Given the description of an element on the screen output the (x, y) to click on. 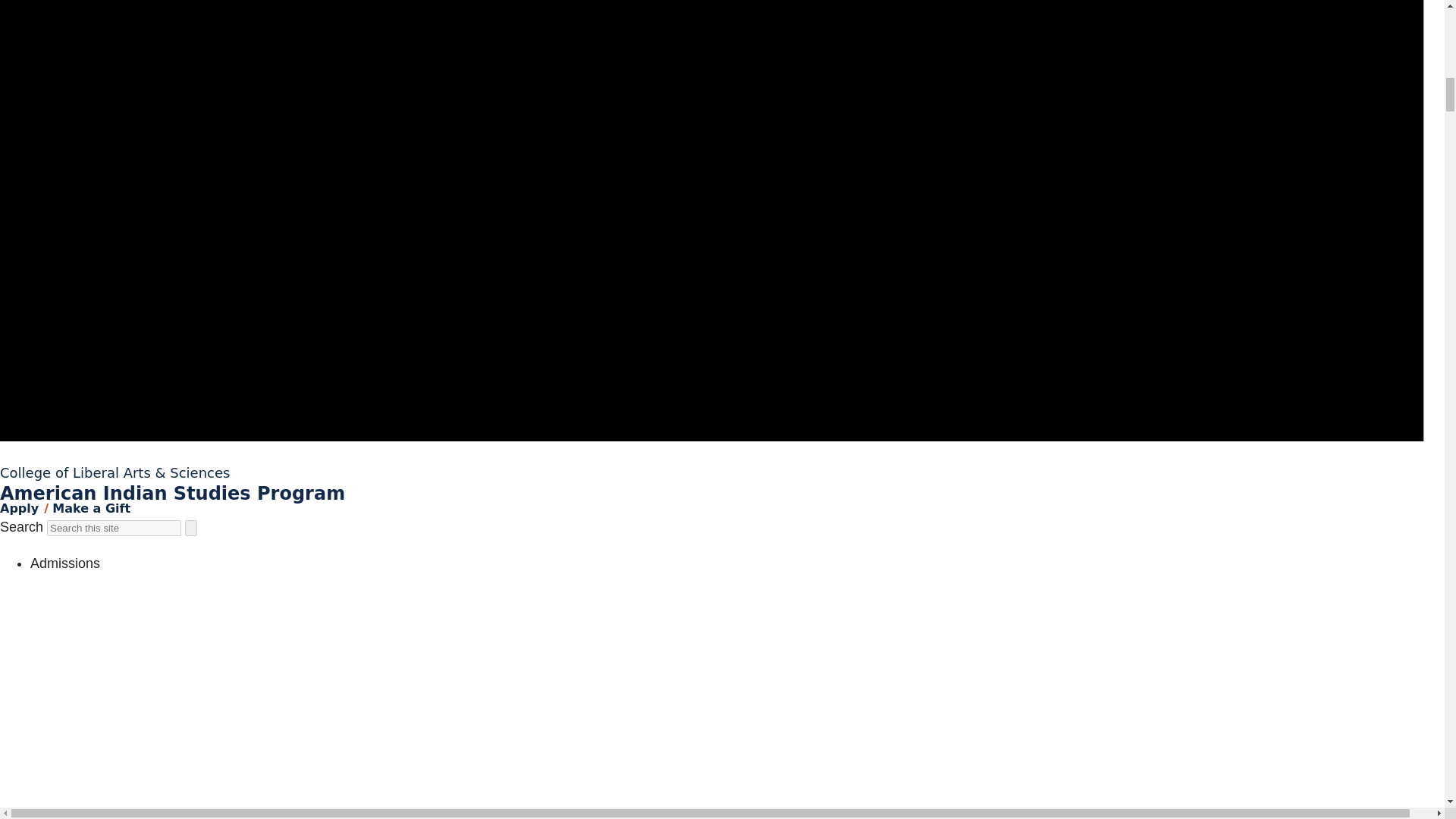
Apply (19, 508)
American Indian Studies Program (172, 493)
Admissions (65, 563)
Make a Gift (91, 508)
